Given the description of an element on the screen output the (x, y) to click on. 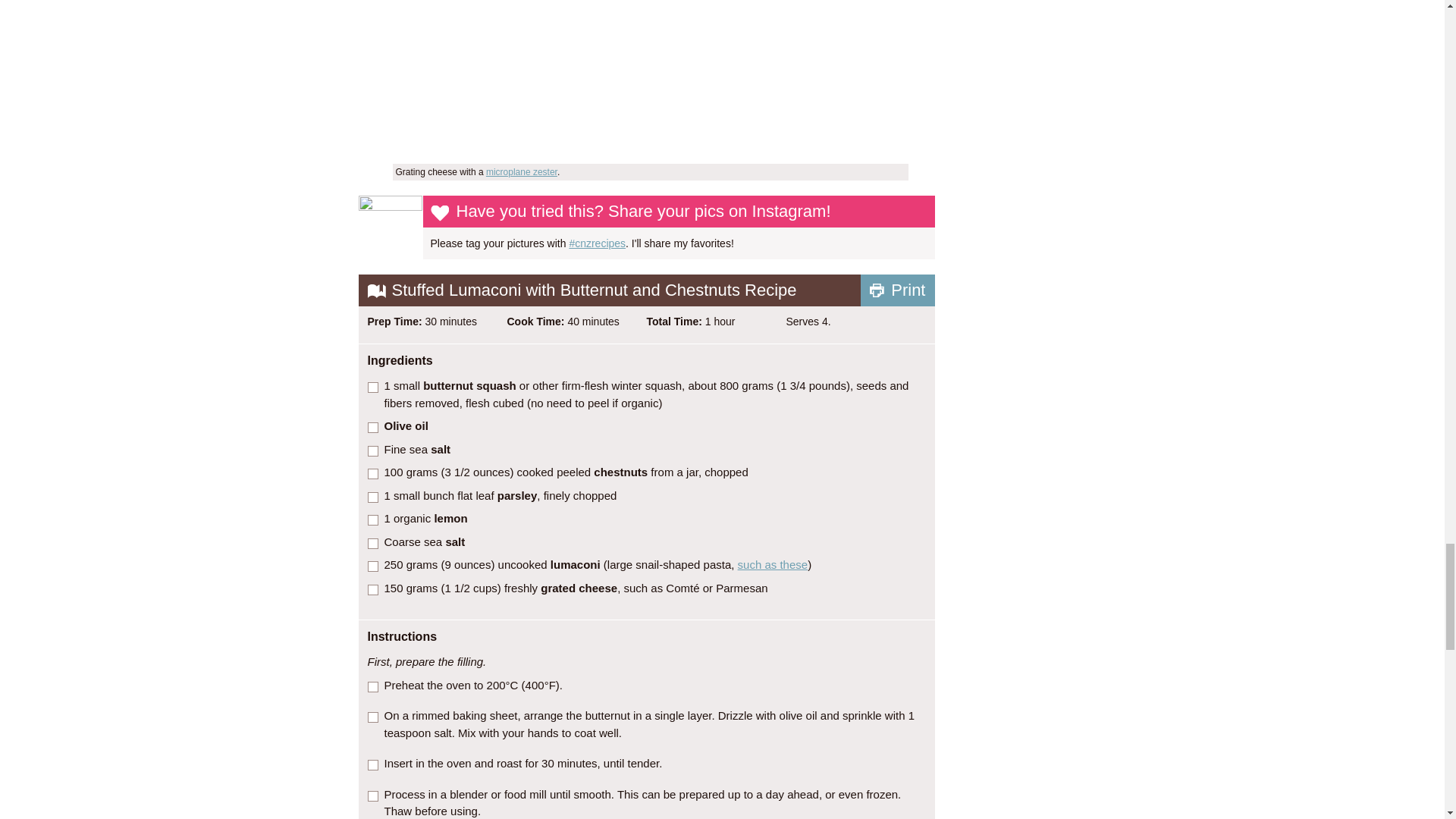
Print this recipe (897, 290)
